Given the description of an element on the screen output the (x, y) to click on. 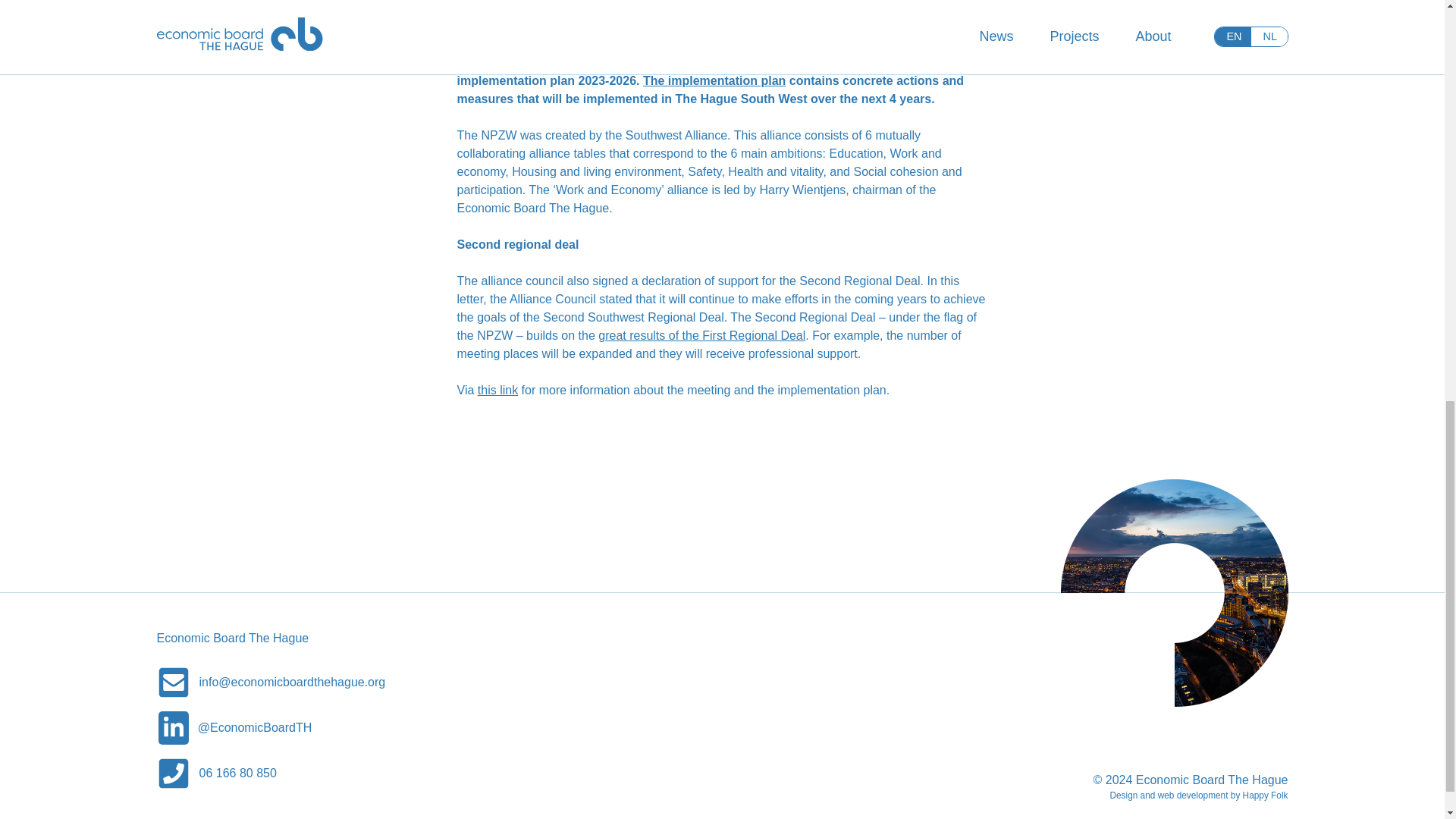
this link (497, 390)
Design and web development by Happy Folk (1198, 795)
The implementation plan (714, 80)
great results of the First Regional Deal (701, 335)
